Given the description of an element on the screen output the (x, y) to click on. 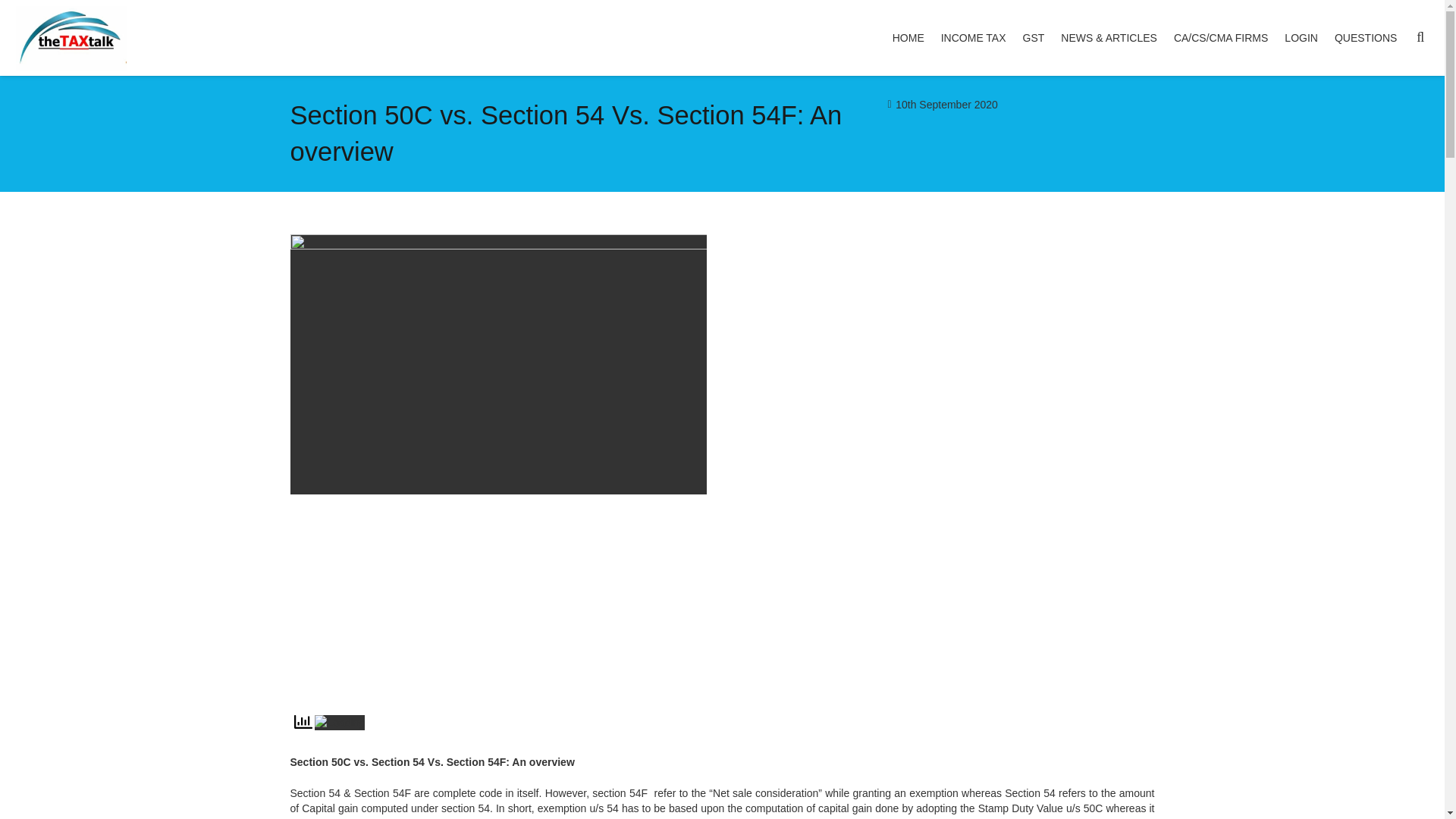
INCOME TAX (973, 38)
